Given the description of an element on the screen output the (x, y) to click on. 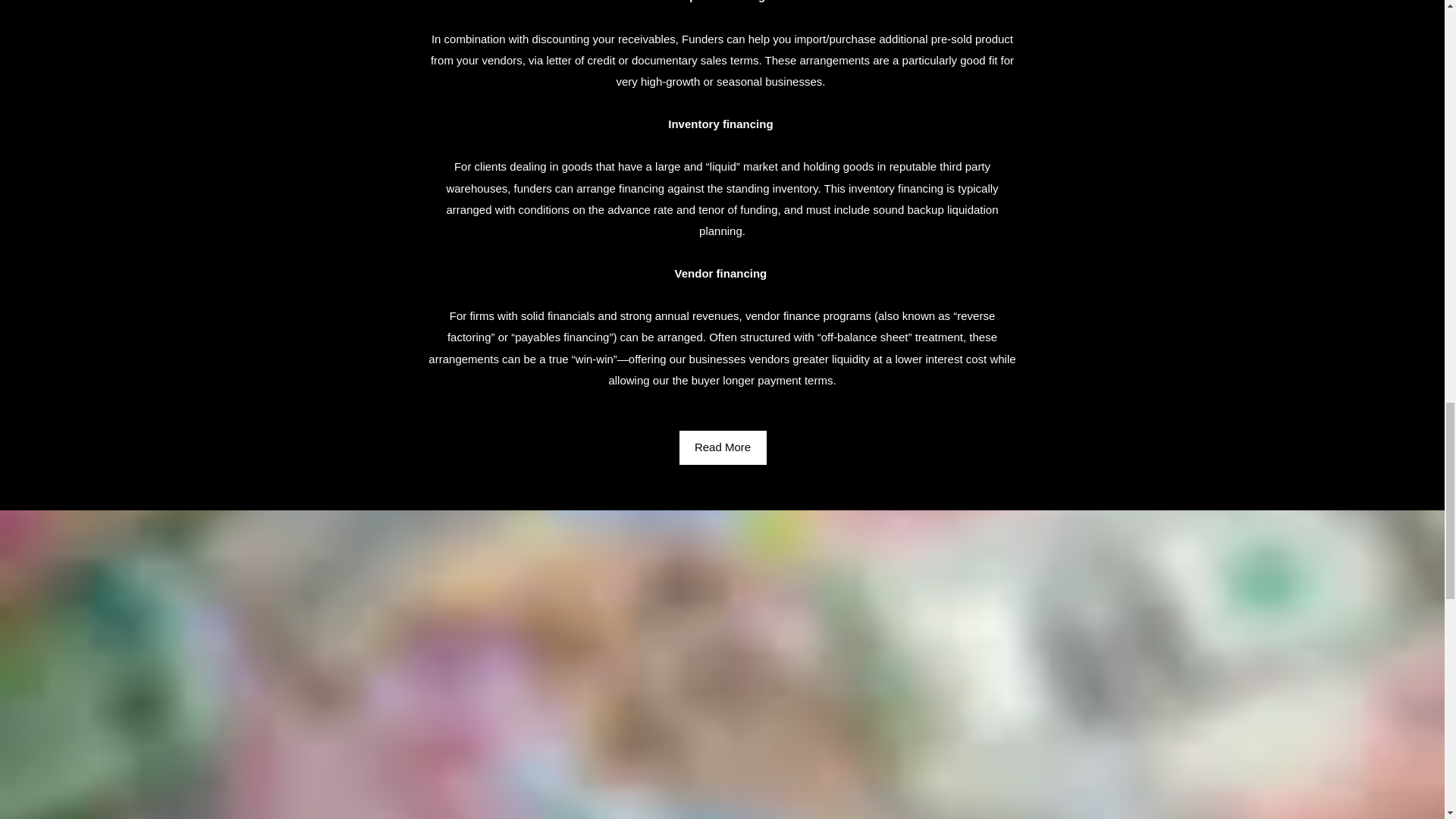
Read More (723, 447)
